Given the description of an element on the screen output the (x, y) to click on. 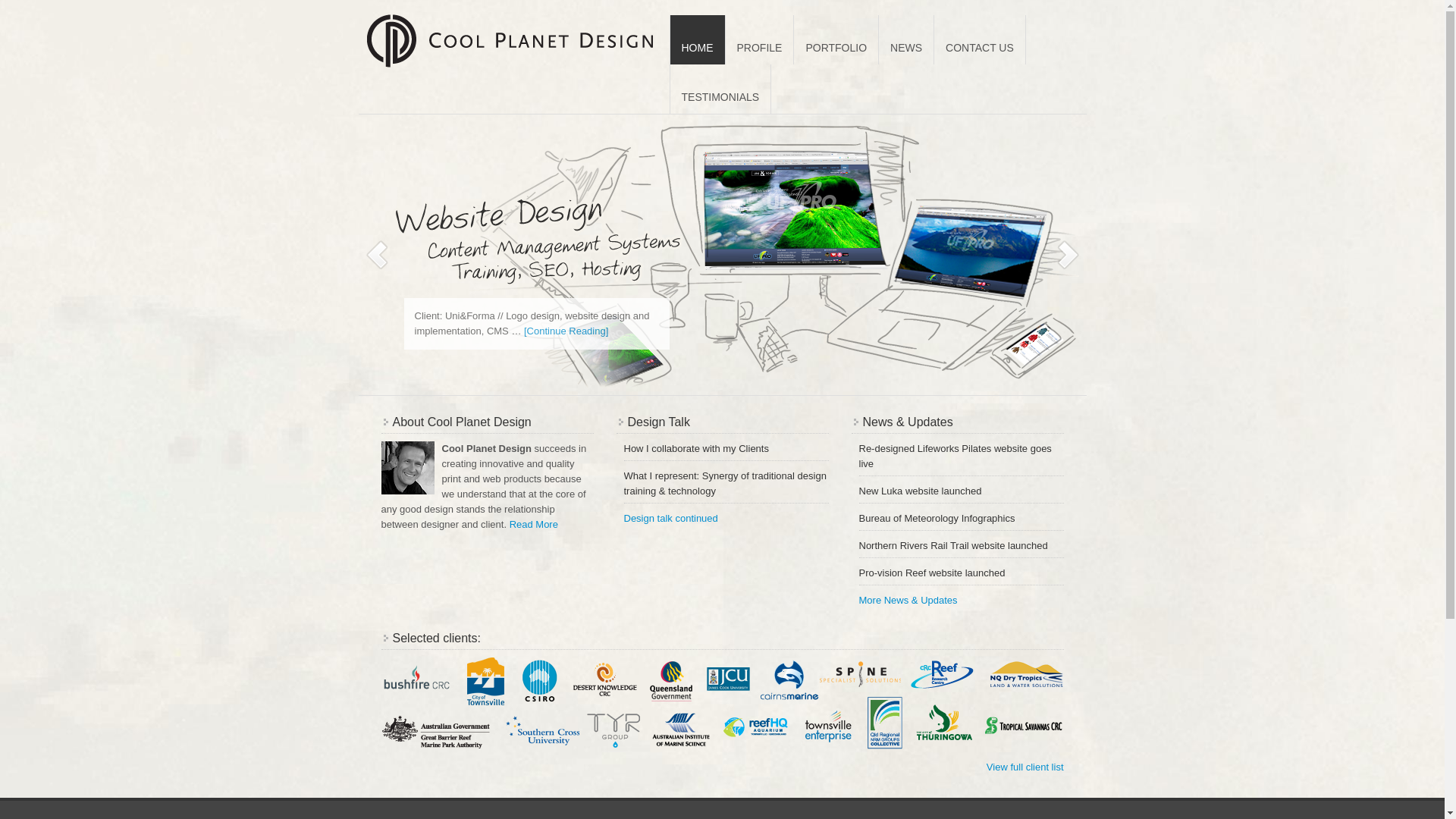
Andreas Wagner Element type: hover (406, 467)
TESTIMONIALS Element type: text (720, 88)
NEWS Element type: text (906, 39)
COOL PLANET DESIGN Element type: text (509, 35)
View full client list Element type: text (1024, 766)
Design talk continued Element type: text (666, 518)
New Luka website launched Element type: text (919, 490)
PROFILE Element type: text (758, 39)
How I collaborate with my Clients Element type: text (695, 448)
PORTFOLIO Element type: text (835, 39)
Northern Rivers Rail Trail website launched Element type: text (952, 545)
[Continue Reading] Element type: text (566, 330)
Re-designed Lifeworks Pilates website goes live Element type: text (954, 455)
CONTACT US Element type: text (980, 39)
Read More Element type: text (533, 524)
More News & Updates Element type: text (903, 599)
Selected Clients Element type: hover (721, 704)
Pro-vision Reef website launched Element type: text (931, 572)
HOME Element type: text (697, 39)
Bureau of Meteorology Infographics Element type: text (936, 518)
